Given the description of an element on the screen output the (x, y) to click on. 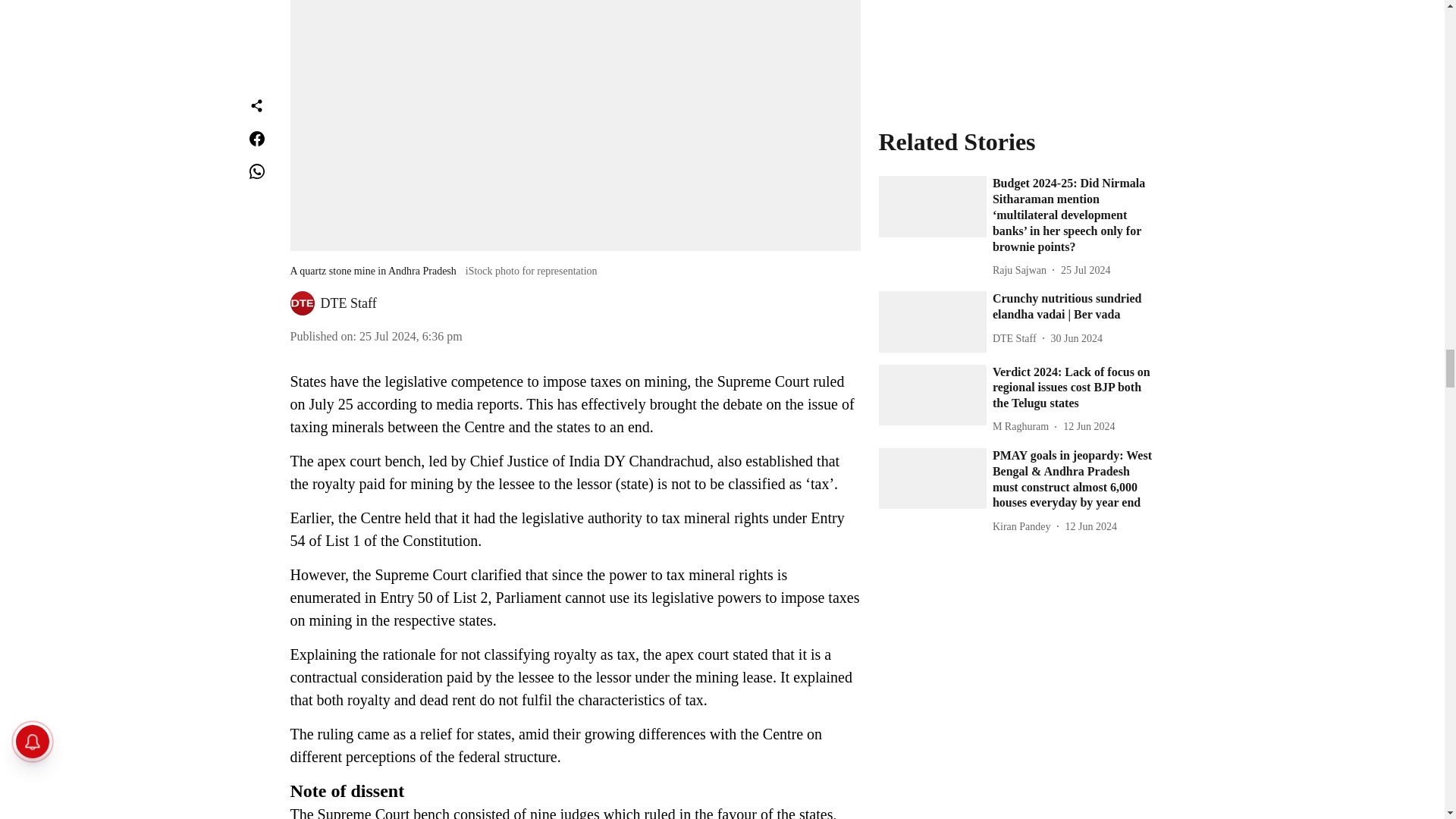
2024-07-25 12:06 (1085, 82)
2024-07-25 10:36 (411, 336)
2024-06-12 07:09 (1090, 339)
2024-06-30 10:24 (1076, 150)
2024-06-12 11:34 (1088, 238)
